Given the description of an element on the screen output the (x, y) to click on. 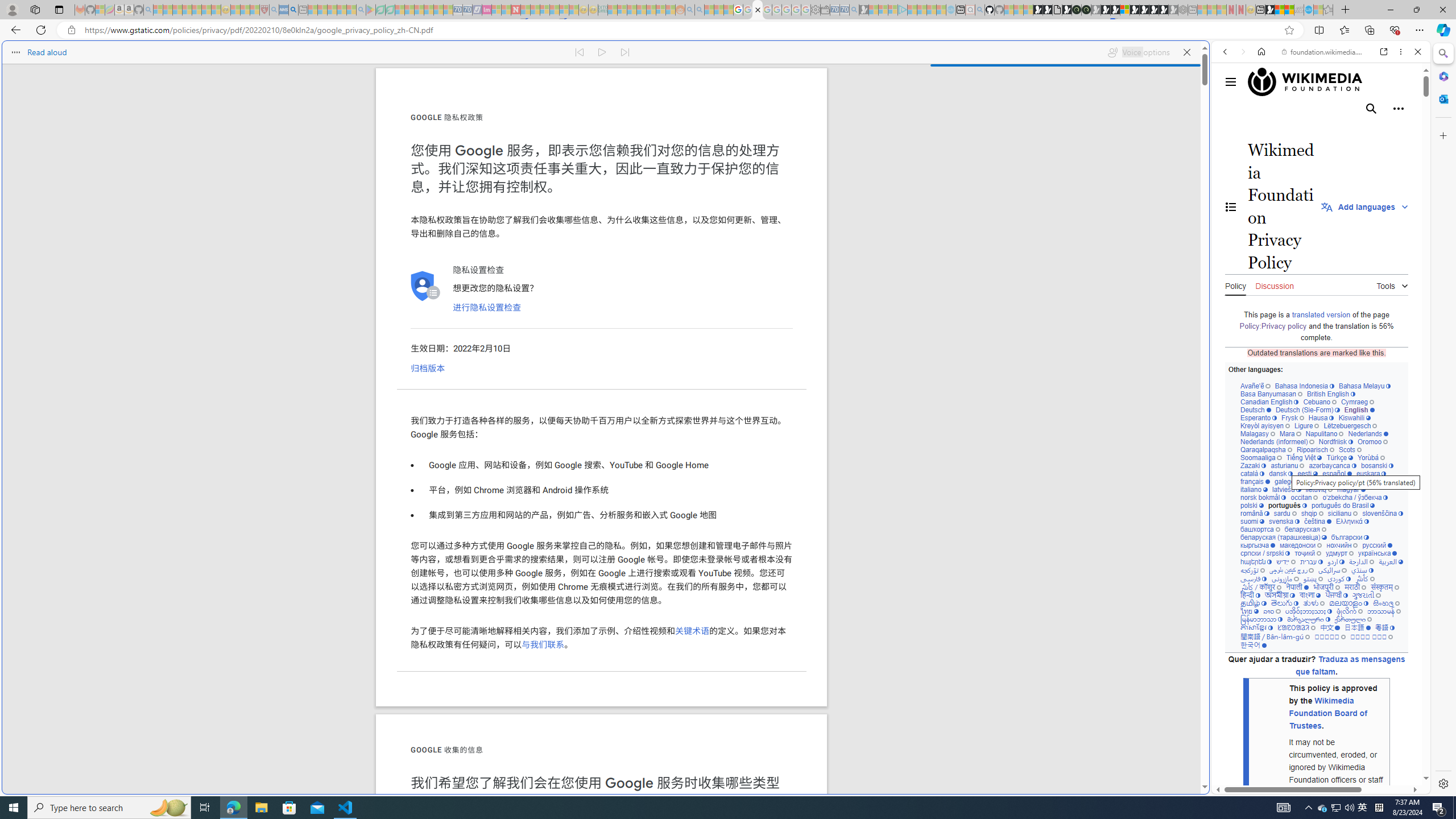
svenska (1284, 520)
Settings - Sleeping (815, 9)
